Given the description of an element on the screen output the (x, y) to click on. 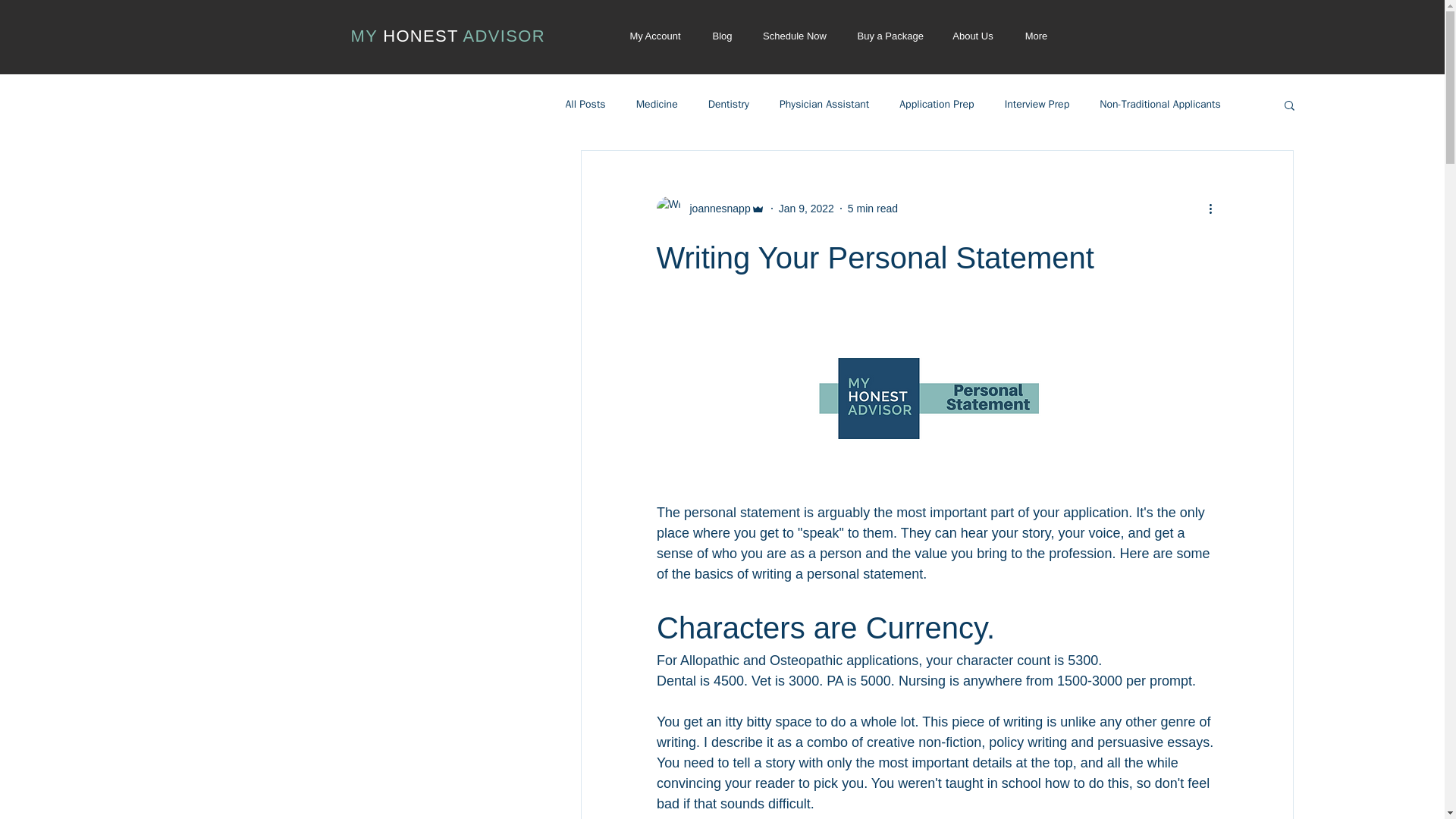
HONEST (422, 35)
About Us (973, 35)
My Account (654, 35)
Interview Prep (1037, 104)
joannesnapp (710, 208)
Buy a Package (888, 35)
Schedule Now (795, 35)
Application Prep (936, 104)
5 min read (872, 207)
Medicine (657, 104)
